Given the description of an element on the screen output the (x, y) to click on. 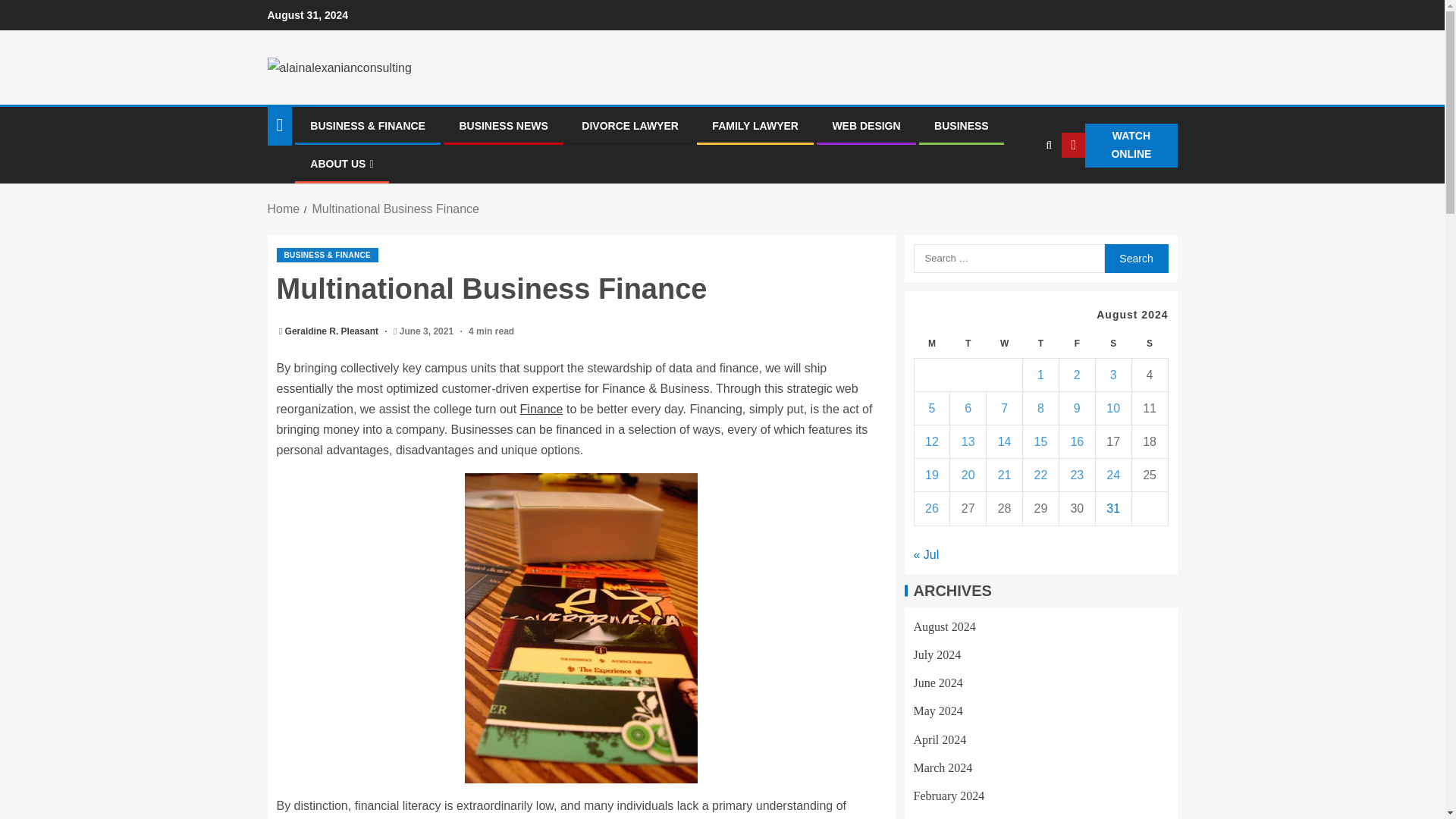
BUSINESS (961, 125)
WATCH ONLINE (1118, 145)
Friday (1076, 343)
Home (282, 208)
BUSINESS NEWS (502, 125)
Monday (932, 343)
Tuesday (968, 343)
Sunday (1149, 343)
Wednesday (1005, 343)
Finance (541, 408)
